Given the description of an element on the screen output the (x, y) to click on. 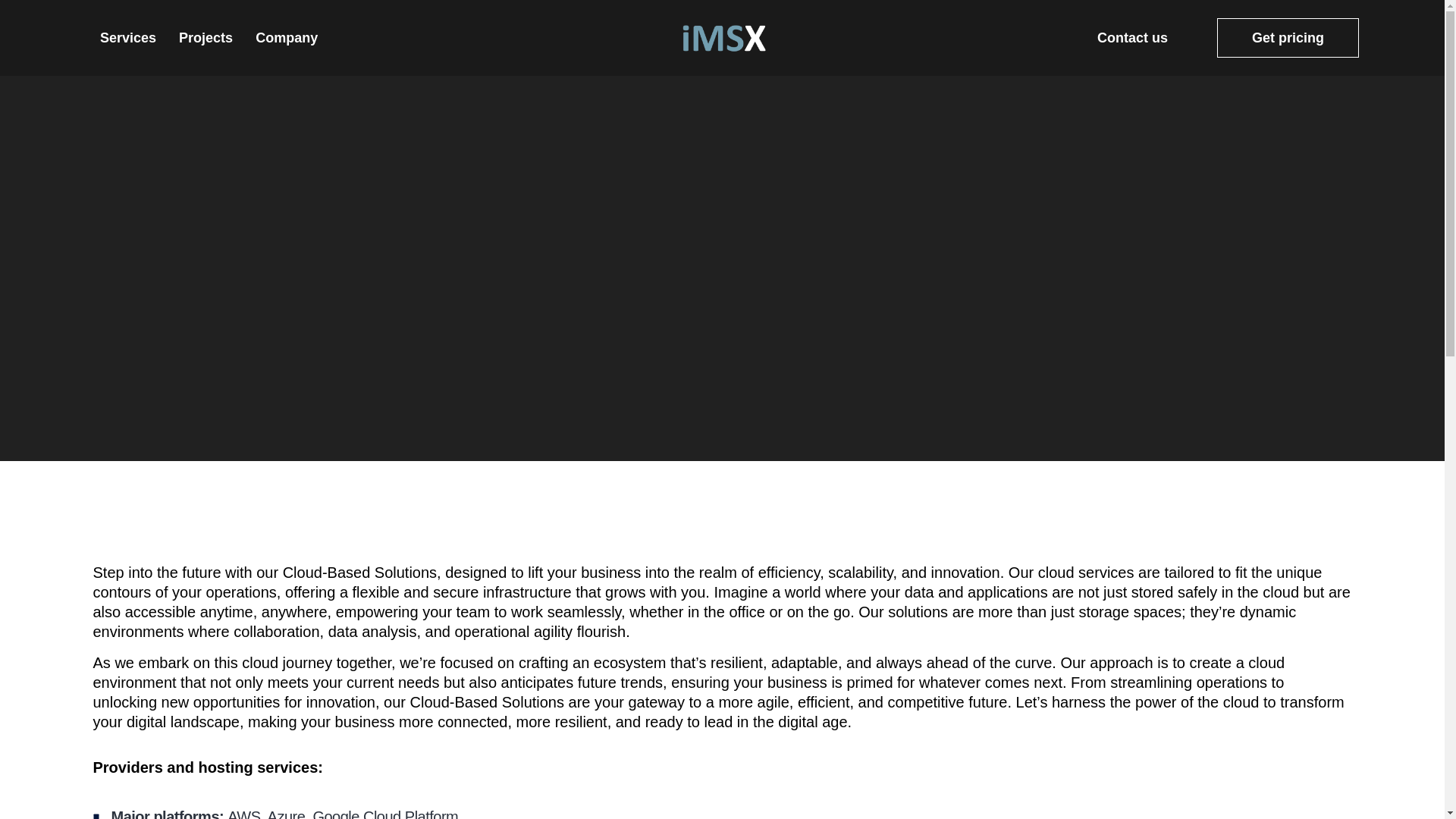
Services (127, 37)
Get pricing (1287, 37)
Projects (205, 37)
Company (286, 37)
Contact us (1132, 37)
